Given the description of an element on the screen output the (x, y) to click on. 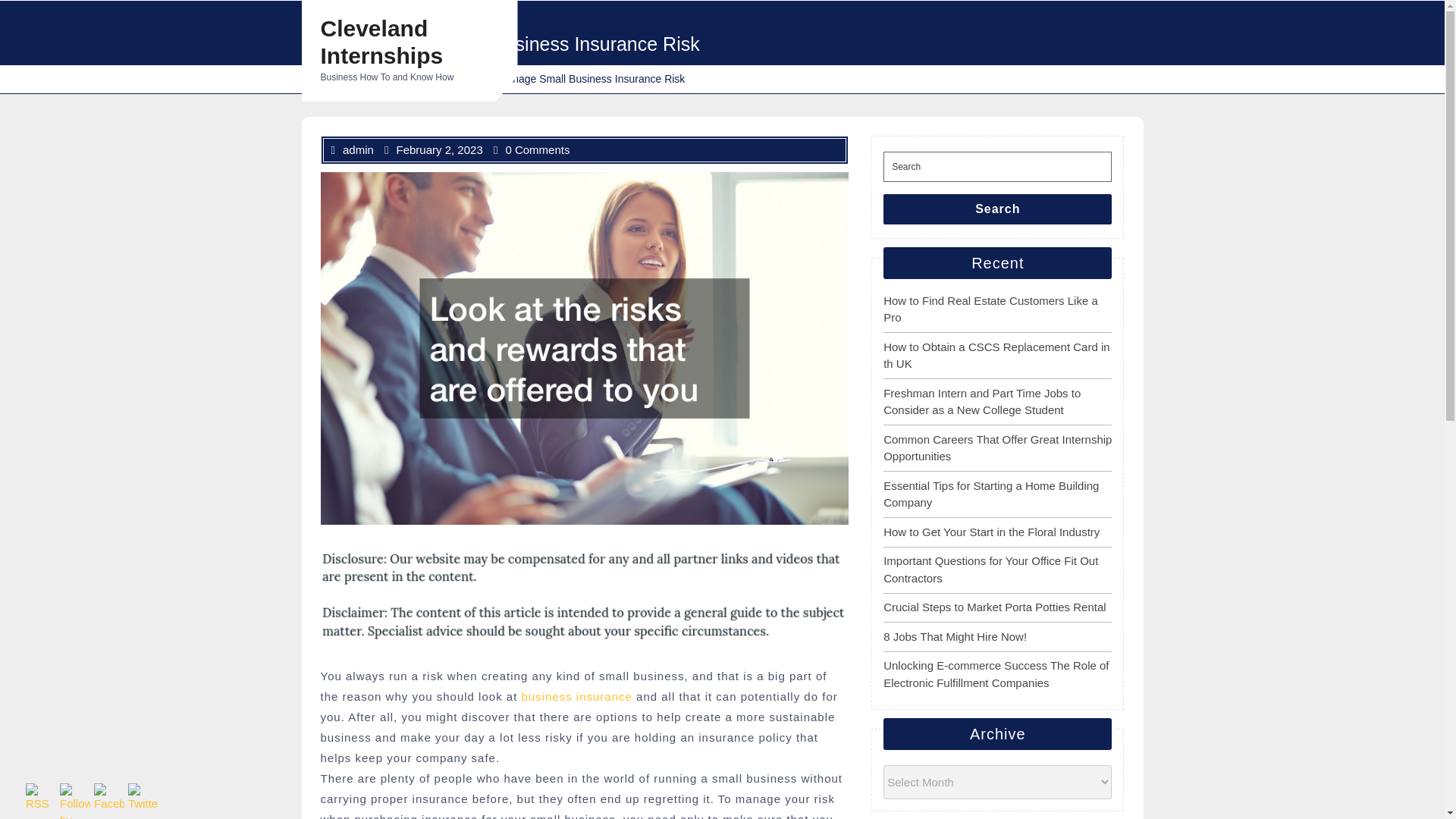
How to Get Your Start in the Floral Industry (991, 530)
Essential Tips for Starting a Home Building Company (991, 494)
business insurance (576, 696)
Cleveland Internships (352, 78)
Cleveland Internships (381, 41)
RSS (41, 797)
Common Careers That Offer Great Internship Opportunities (997, 447)
How to Obtain a CSCS Replacement Card in th UK (996, 354)
Facebook (108, 797)
8 Jobs That Might Hire Now! (954, 635)
How to Find Real Estate Customers Like a Pro (990, 309)
Crucial Steps to Market Porta Potties Rental (994, 606)
Twitter (143, 797)
Search (997, 209)
